Given the description of an element on the screen output the (x, y) to click on. 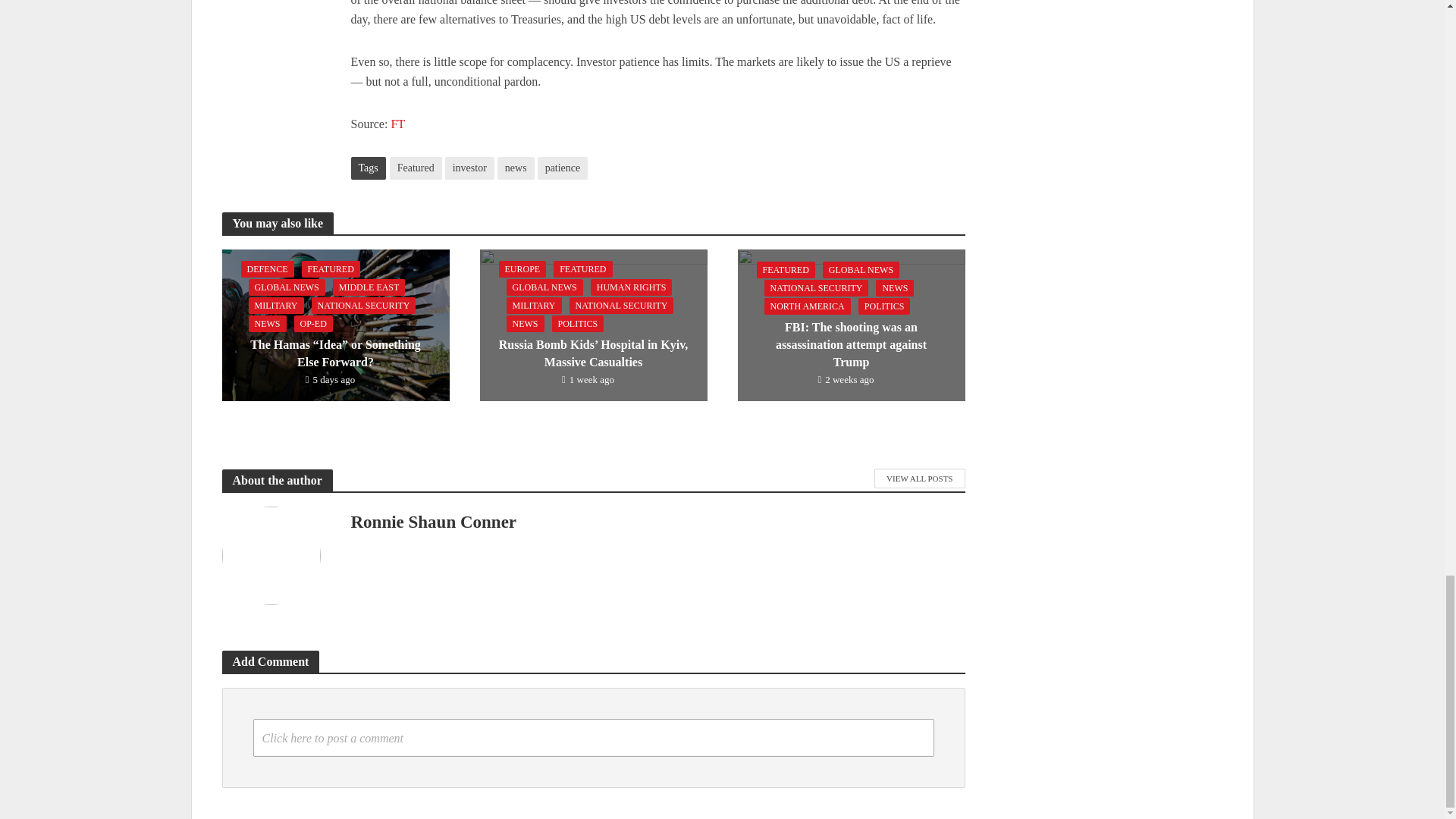
FBI: The shooting was an assassination attempt against Trump (849, 323)
